Given the description of an element on the screen output the (x, y) to click on. 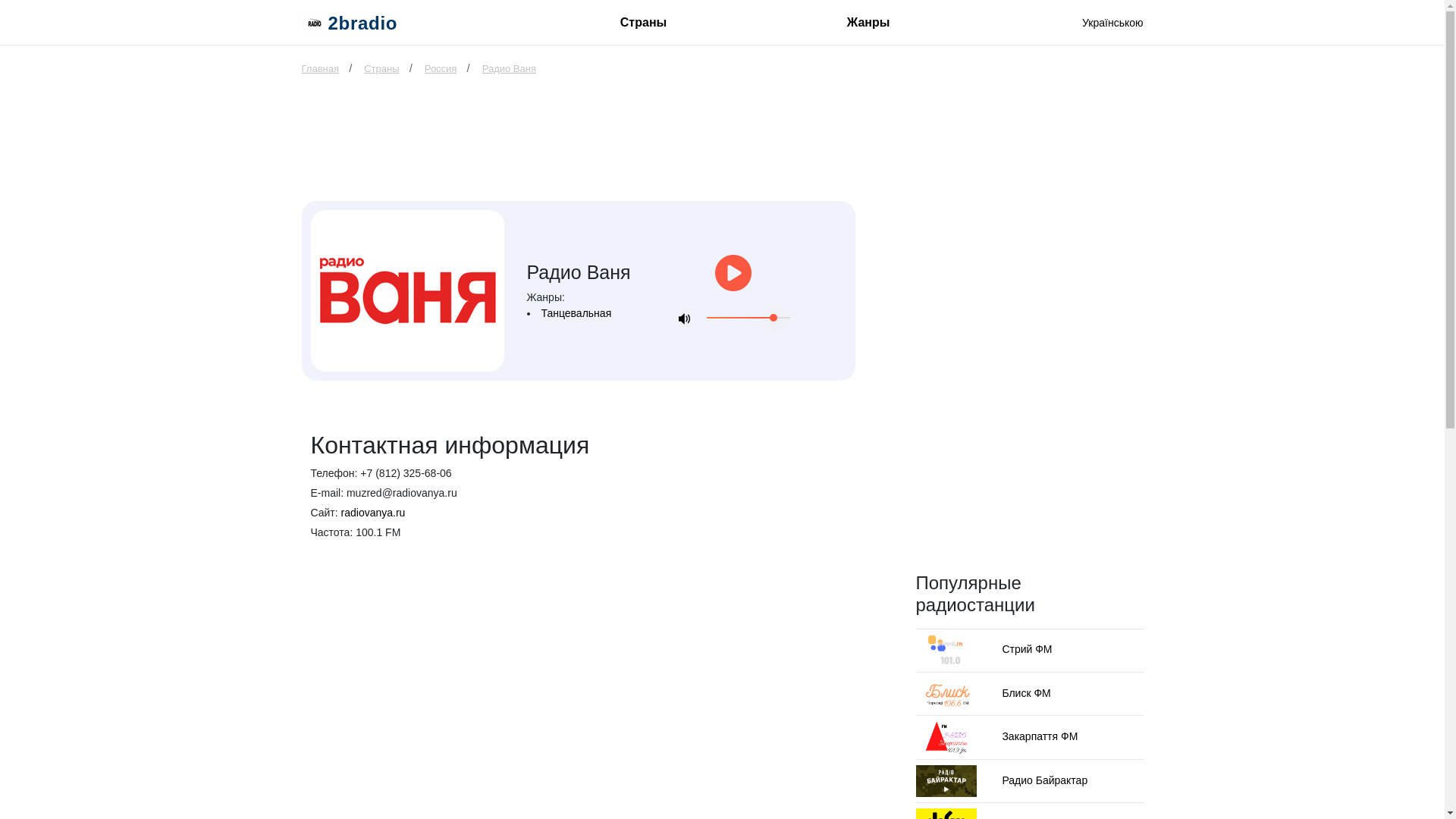
radiovanya.ru Element type: text (373, 512)
Advertisement Element type: hover (578, 147)
Advertisement Element type: hover (1029, 333)
2bradio Element type: text (349, 22)
